Given the description of an element on the screen output the (x, y) to click on. 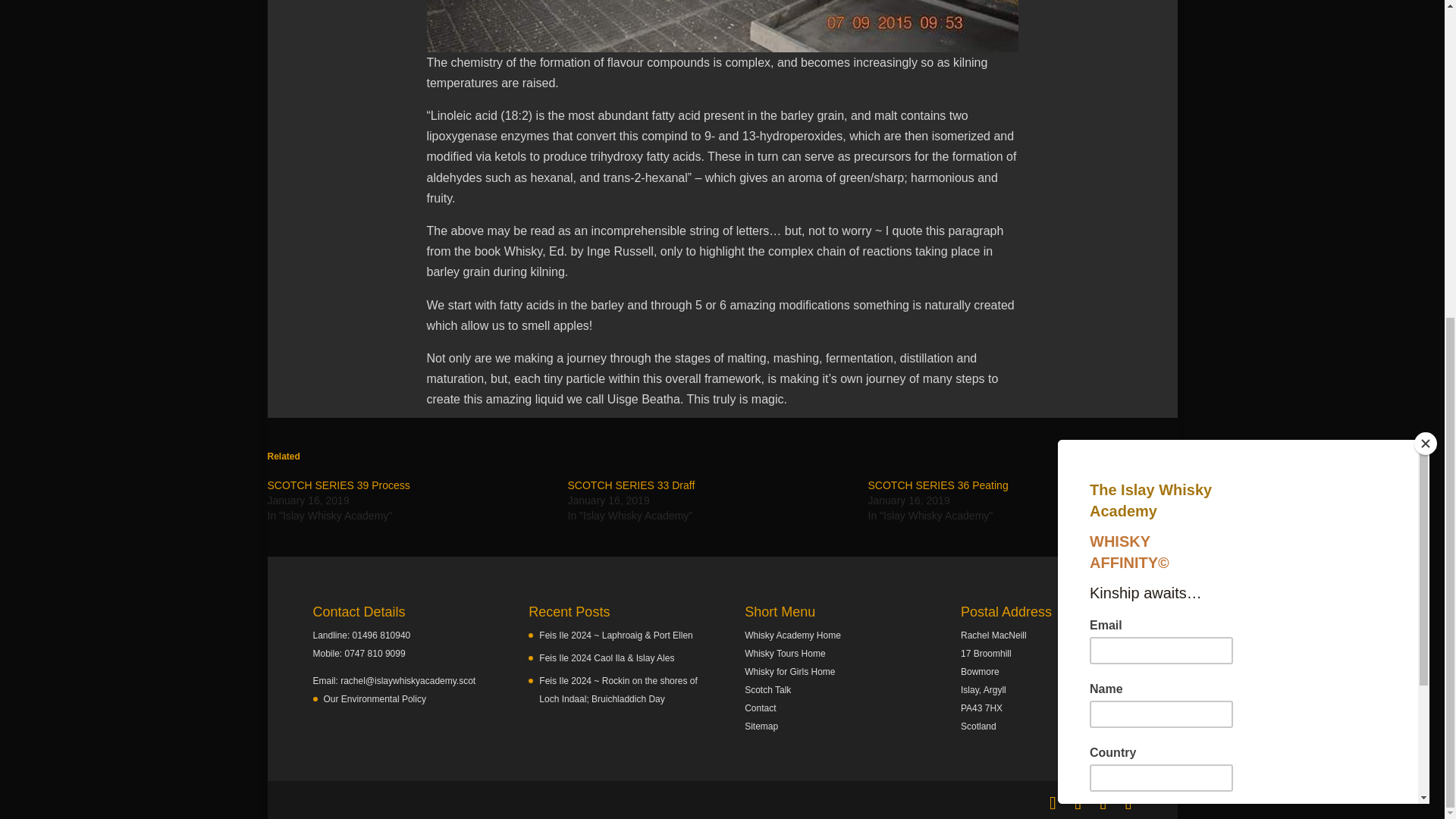
Our Environmental Policy (374, 698)
SCOTCH SERIES 39  Process (337, 485)
SCOTCH SERIES 36  Peating (937, 485)
Whisky Academy Home (792, 634)
SCOTCH SERIES 36 Peating (937, 485)
SCOTCH SERIES 39 Process (337, 485)
Sitemap (760, 726)
SCOTCH SERIES 33  Draff (630, 485)
SCOTCH SERIES 33 Draff (630, 485)
